Given the description of an element on the screen output the (x, y) to click on. 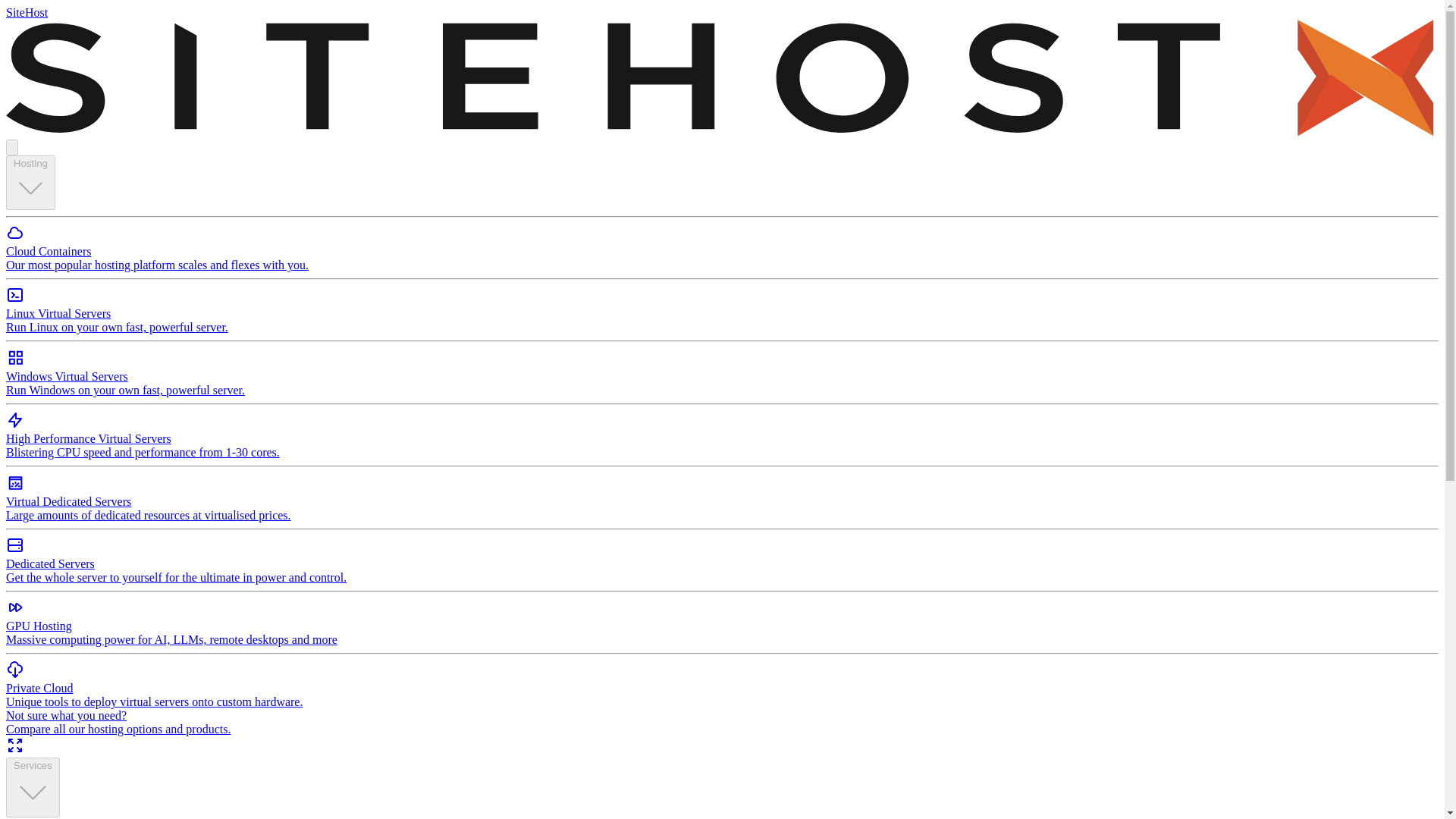
Hosting (30, 182)
Services (32, 787)
